Given the description of an element on the screen output the (x, y) to click on. 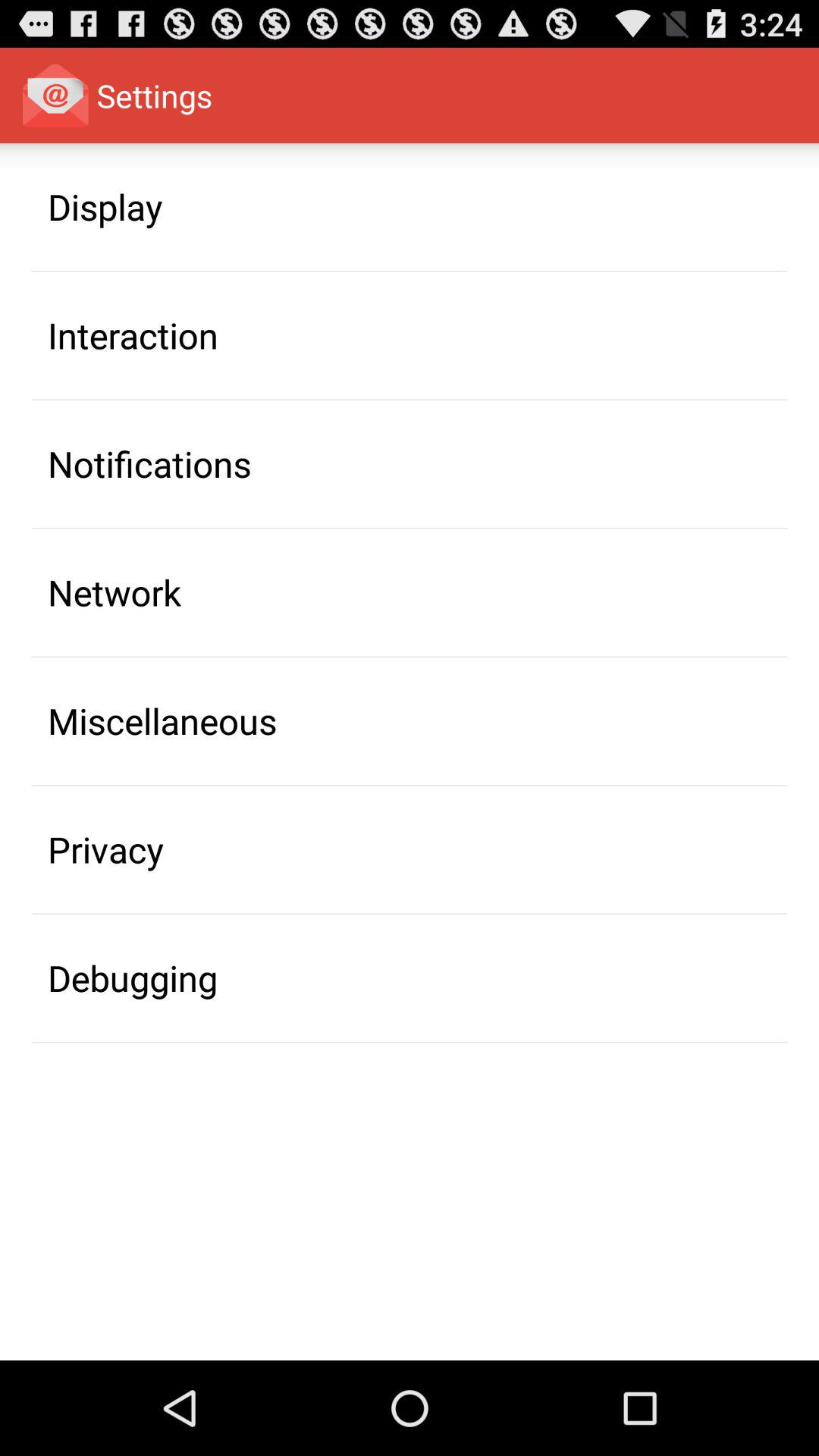
flip to display app (104, 206)
